Given the description of an element on the screen output the (x, y) to click on. 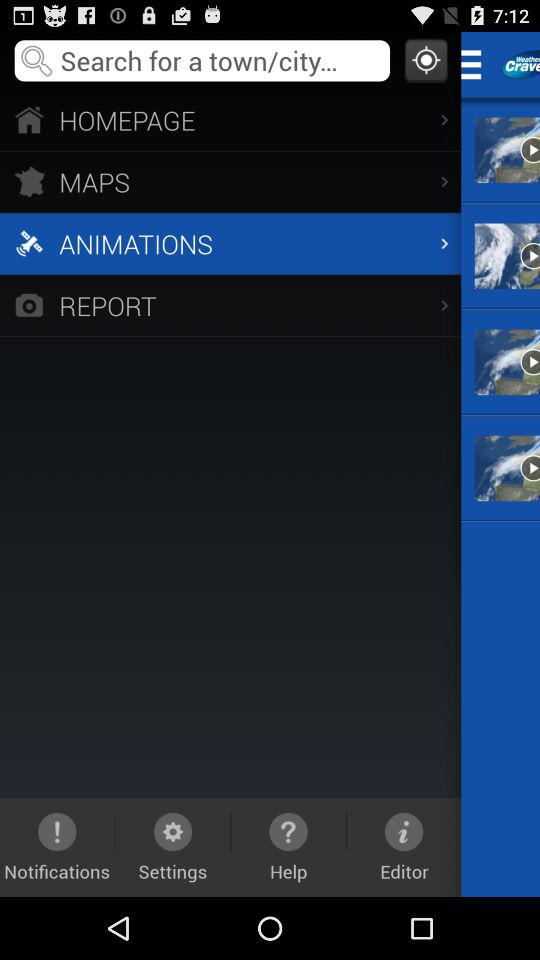
jump until help icon (288, 847)
